Given the description of an element on the screen output the (x, y) to click on. 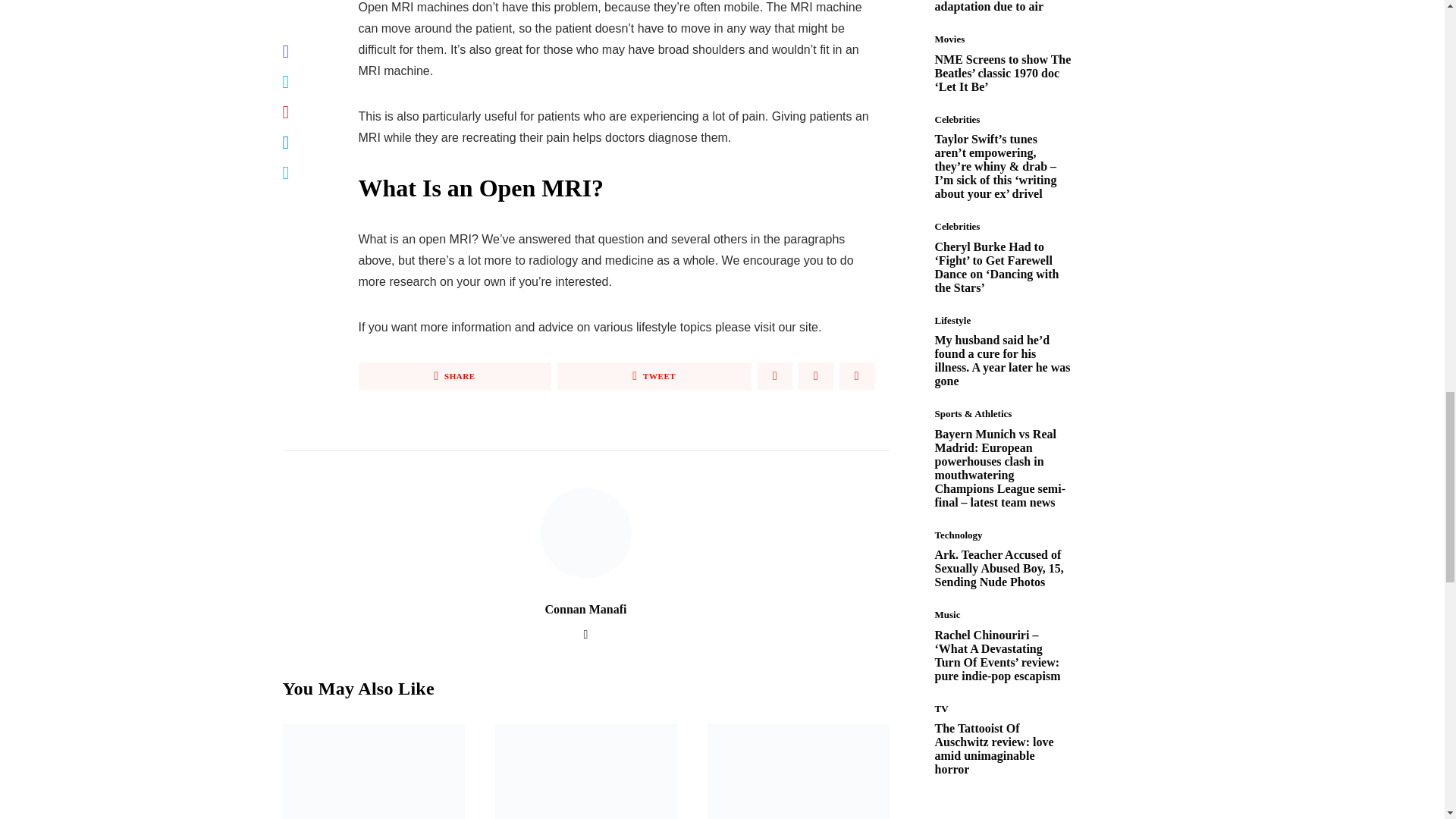
Maternity Cover in Health Insurance Plans 3 (586, 771)
Understanding The Science Behind Leaky Gut And Weight Gain 2 (373, 771)
